Given the description of an element on the screen output the (x, y) to click on. 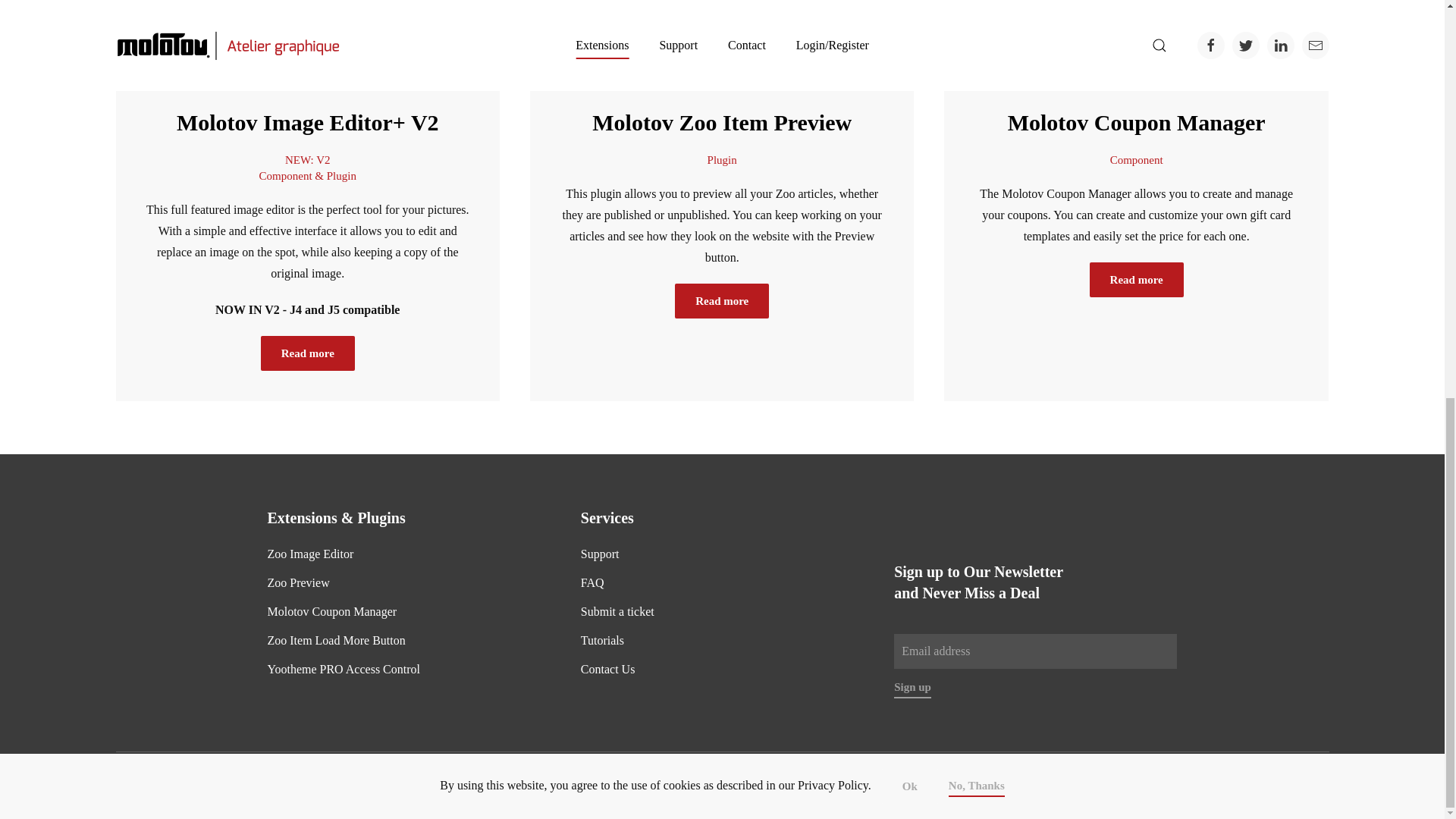
Zoo Image Editor (309, 553)
Zoo Item Load More Button (408, 640)
Zoo Preview (297, 582)
Molotov Coupon Manager (408, 611)
